Given the description of an element on the screen output the (x, y) to click on. 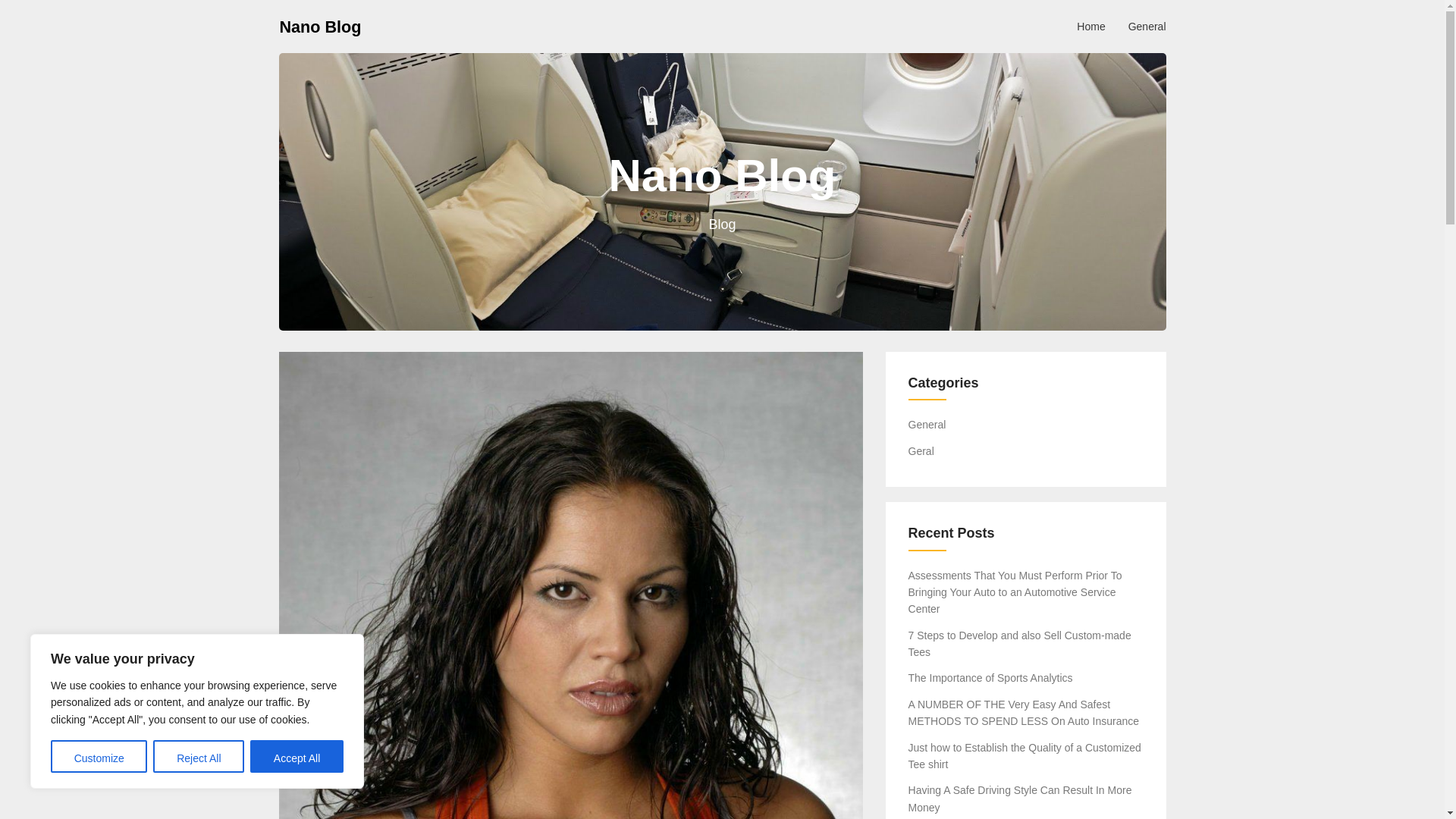
Having A Safe Driving Style Can Result In More Money (1020, 798)
7 Steps to Develop and also Sell Custom-made Tees (1019, 643)
General (927, 424)
Reject All (198, 756)
The Importance of Sports Analytics (990, 677)
General (1146, 26)
Geral (921, 451)
Home (1090, 26)
